Given the description of an element on the screen output the (x, y) to click on. 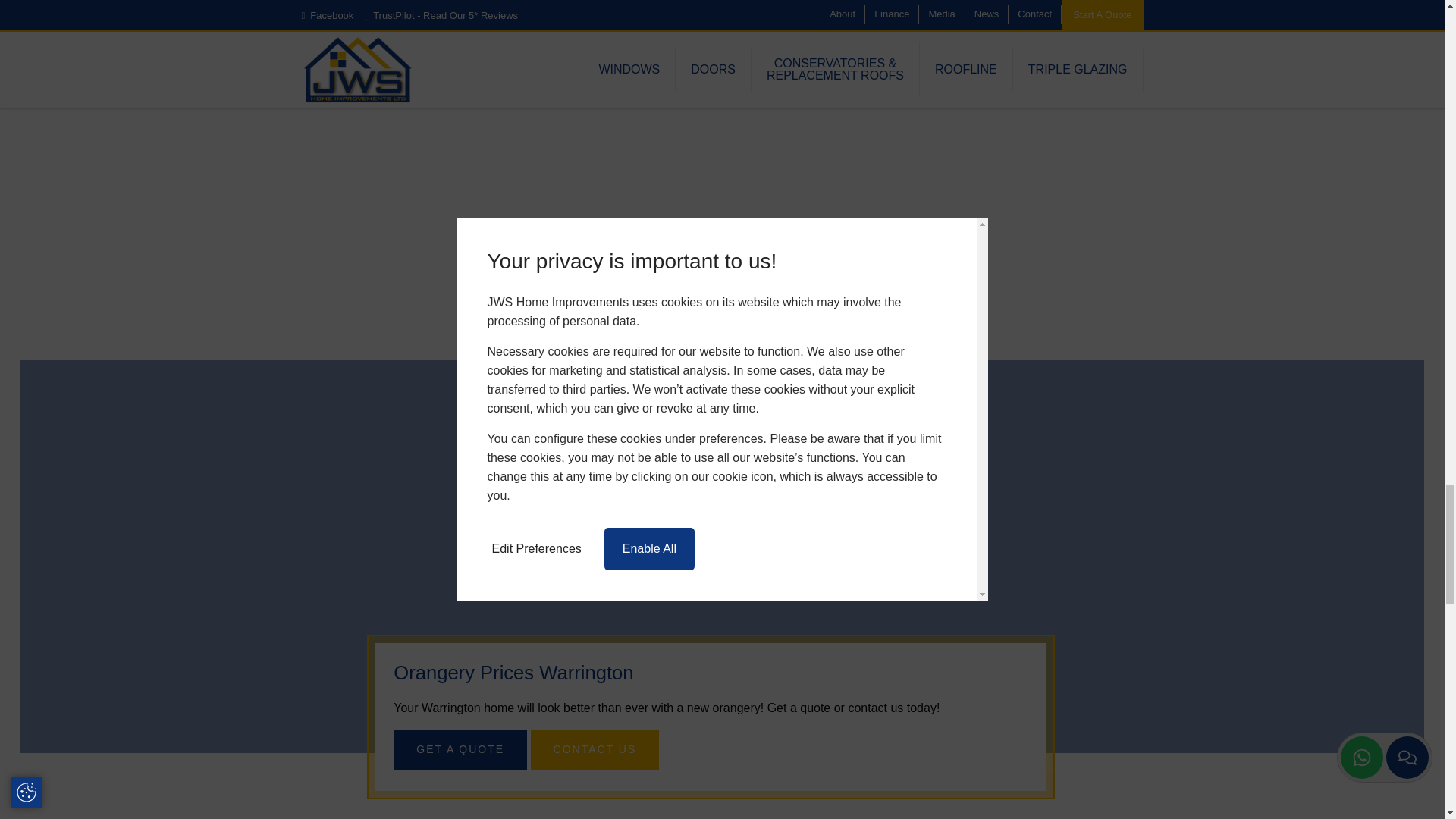
GET A QUOTE (460, 749)
